Given the description of an element on the screen output the (x, y) to click on. 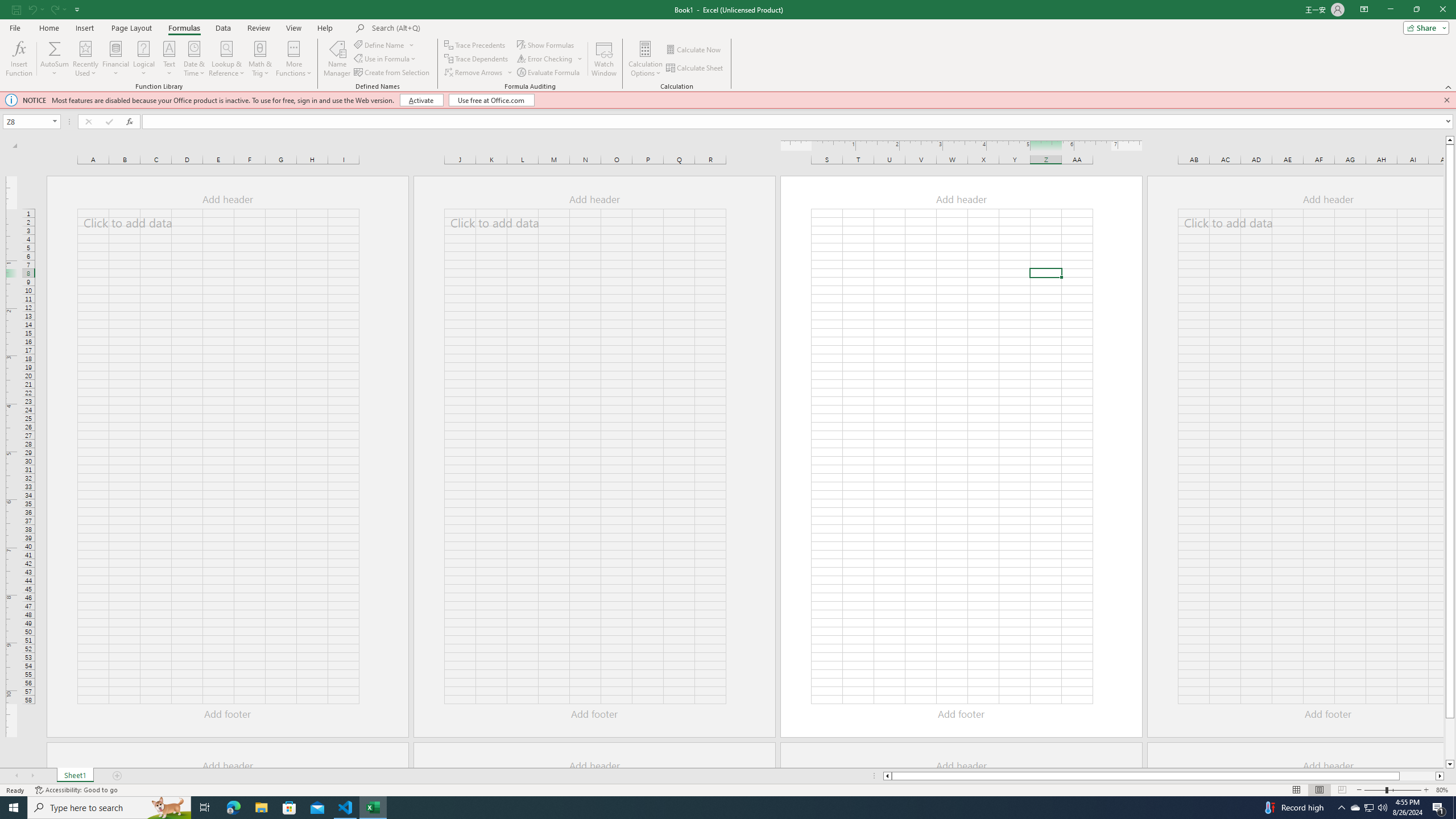
More Functions (294, 58)
Define Name (384, 44)
Math & Trig (260, 58)
